Given the description of an element on the screen output the (x, y) to click on. 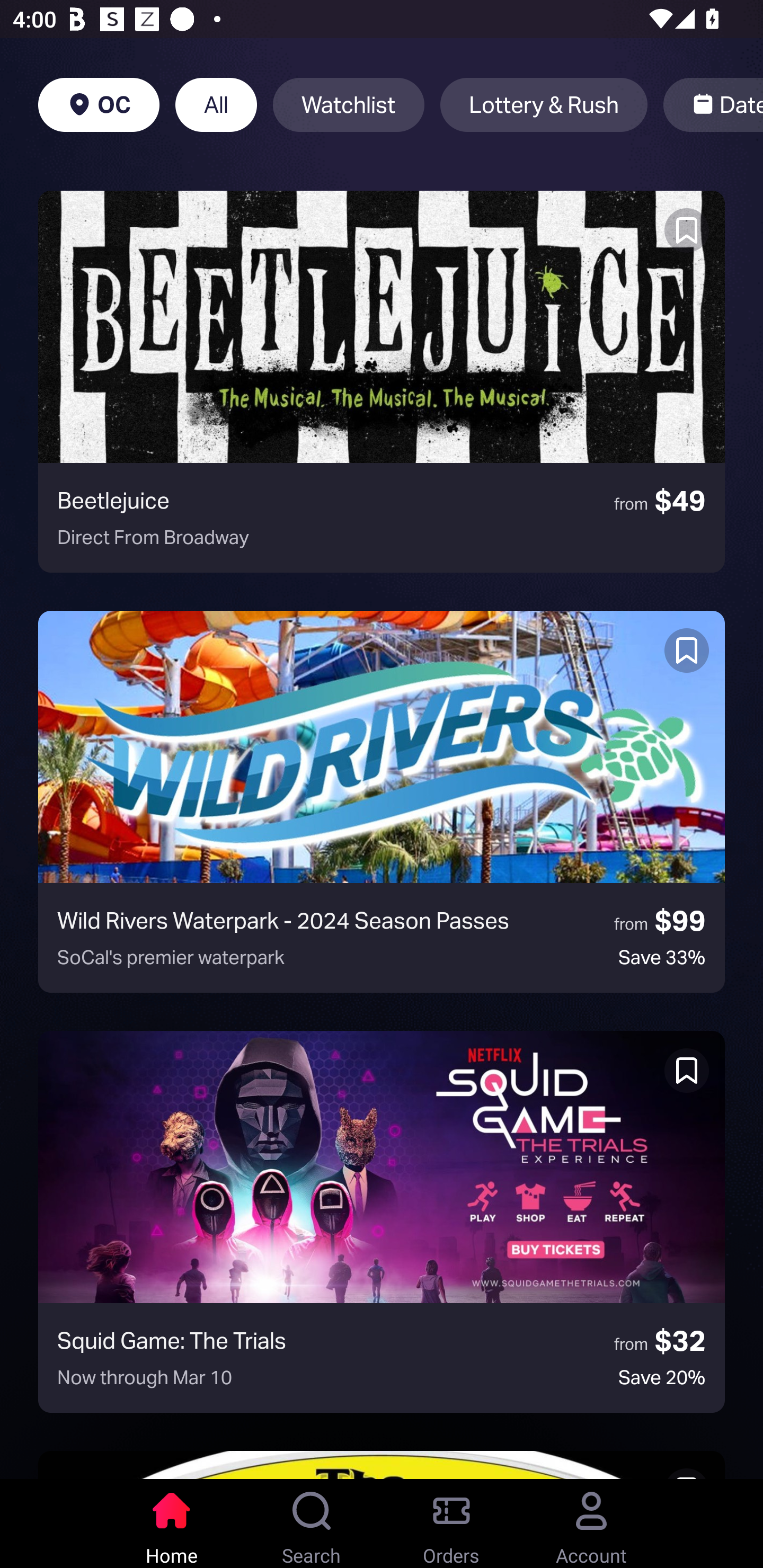
OC (98, 104)
All (216, 104)
Watchlist (348, 104)
Lottery & Rush (543, 104)
Beetlejuice from $49 Direct From Broadway (381, 381)
Search (311, 1523)
Orders (451, 1523)
Account (591, 1523)
